Given the description of an element on the screen output the (x, y) to click on. 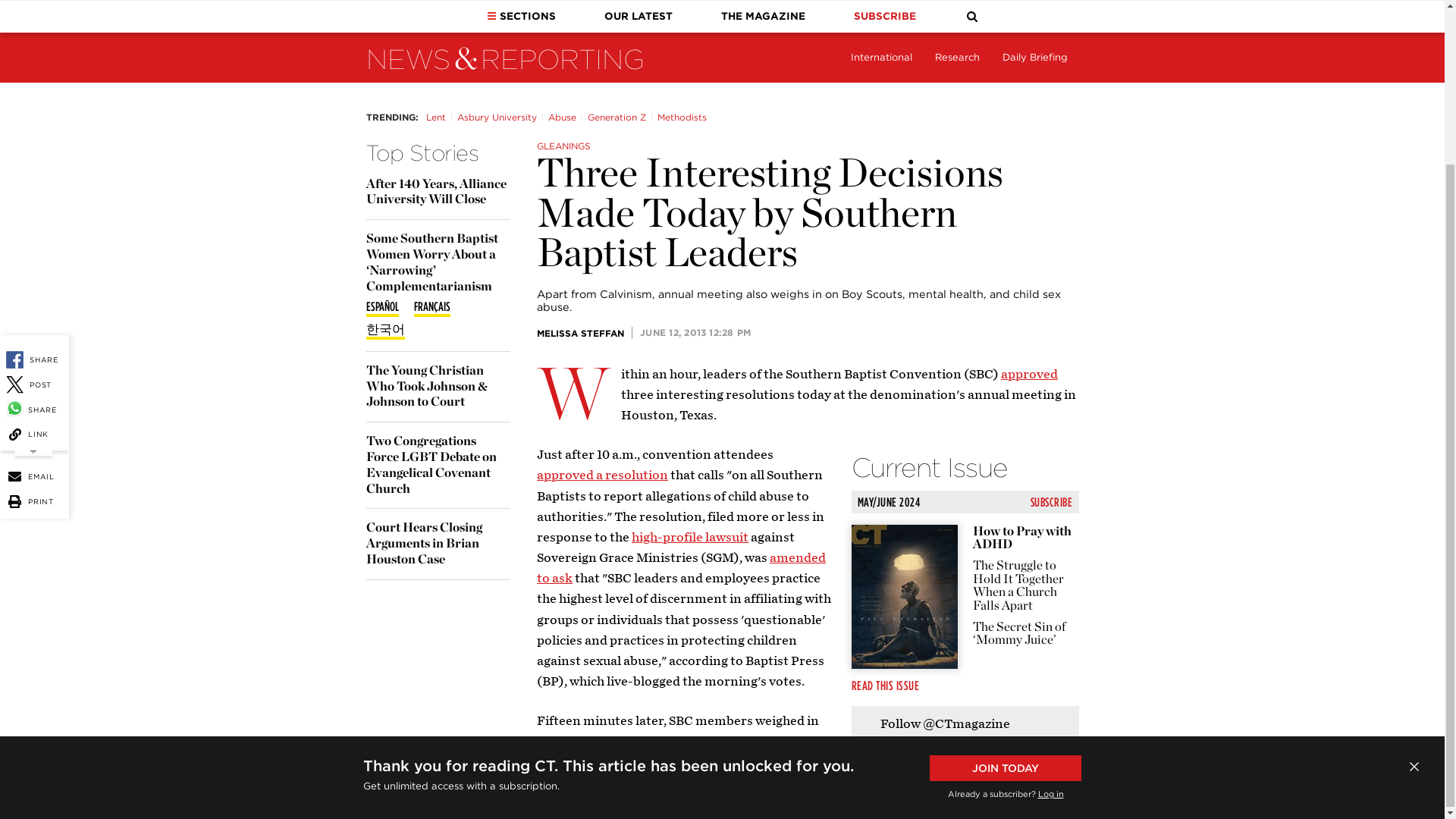
French (431, 307)
Spanish (381, 307)
SECTIONS (521, 16)
Sections Dropdown (491, 15)
